Given the description of an element on the screen output the (x, y) to click on. 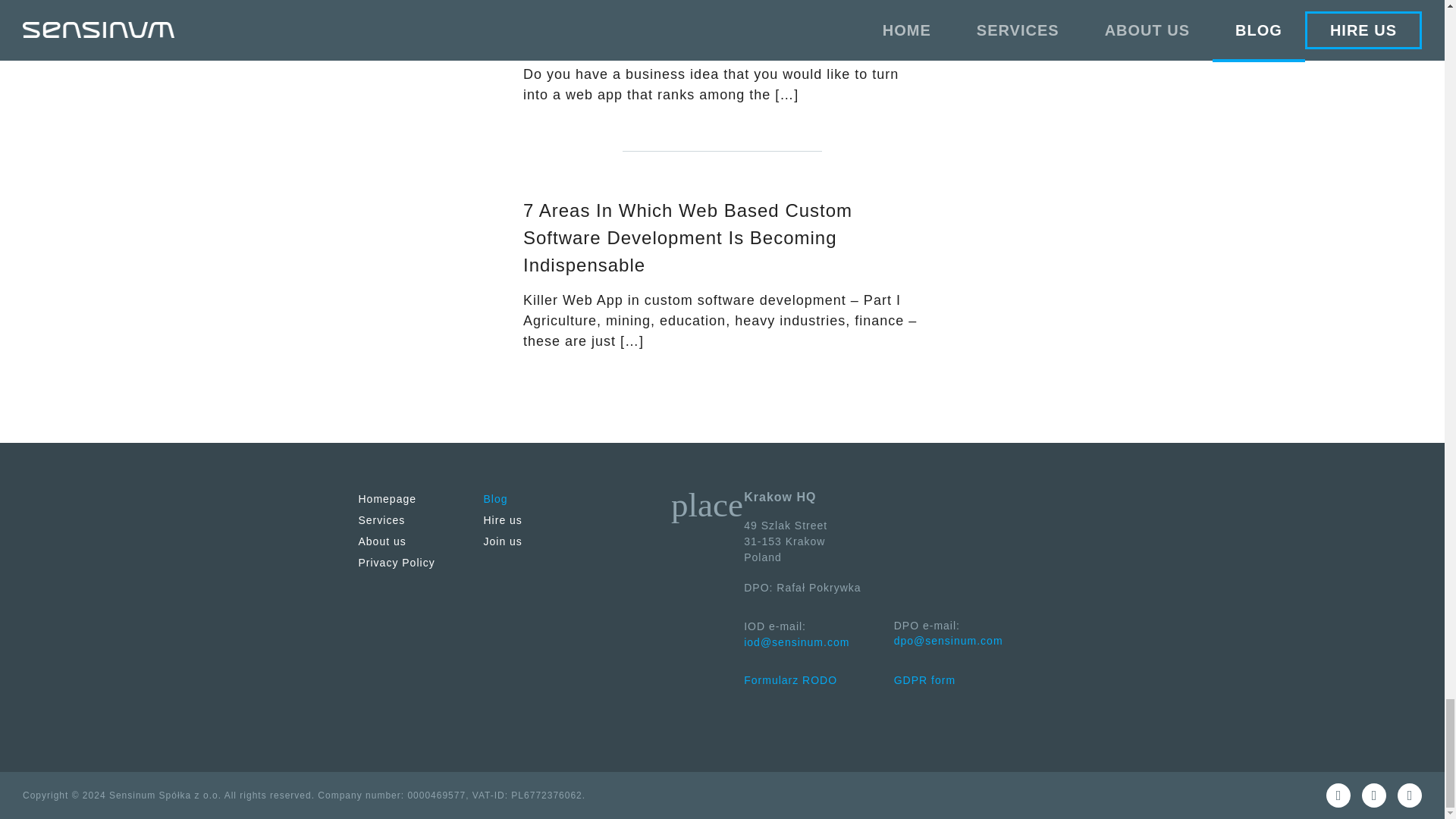
Privacy Policy (395, 562)
Join us (502, 541)
LinkedIn (1373, 794)
Services (381, 520)
Twitter (1409, 794)
About us (382, 541)
Hire us (502, 520)
Homepage (387, 499)
Blog (495, 499)
place (706, 505)
Facebook (1338, 794)
Formularz RODO (790, 680)
Krakow HQ (706, 505)
How to develop an app that actually makes money? (711, 25)
